Given the description of an element on the screen output the (x, y) to click on. 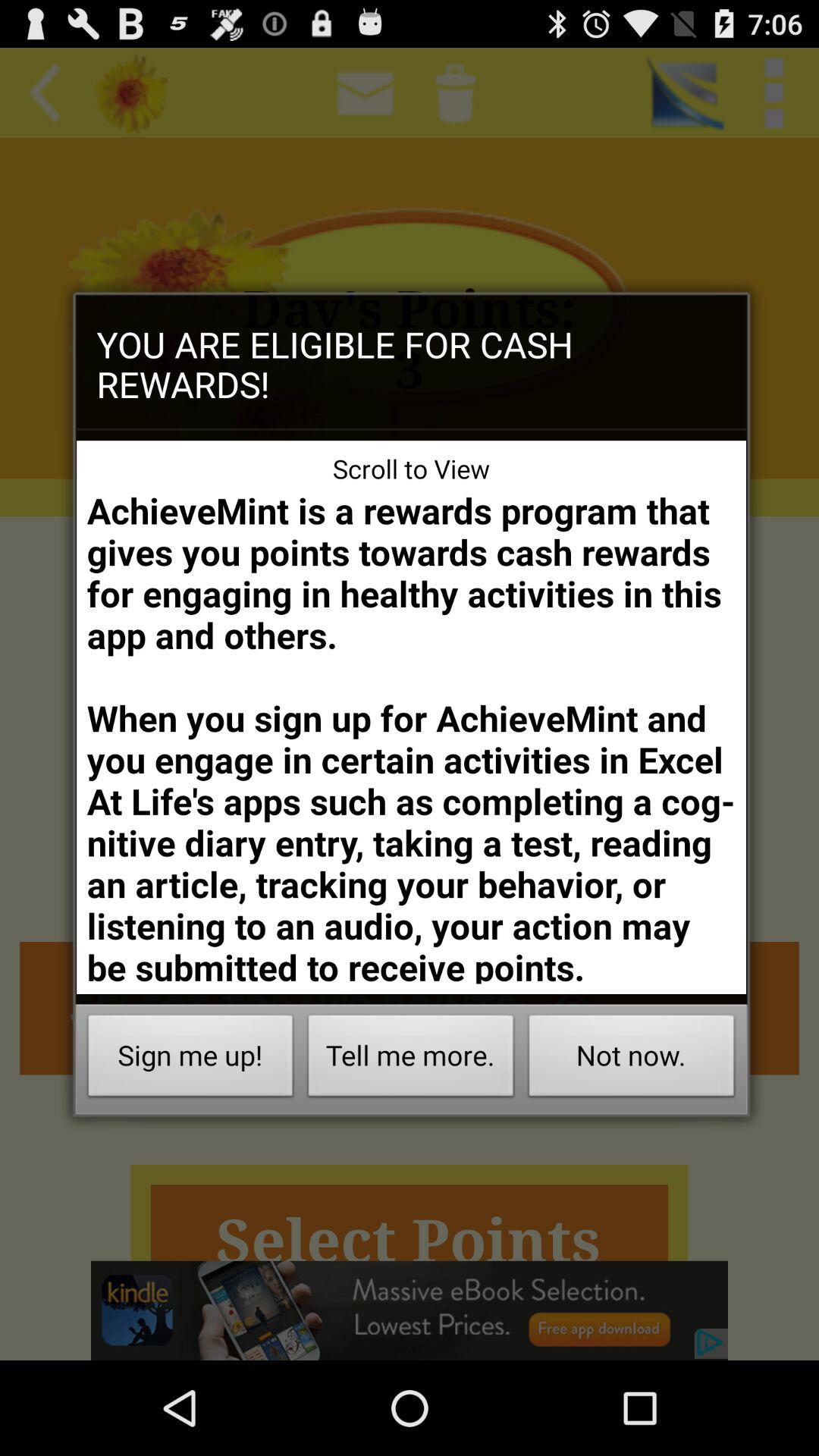
flip until the not now. item (631, 1059)
